Given the description of an element on the screen output the (x, y) to click on. 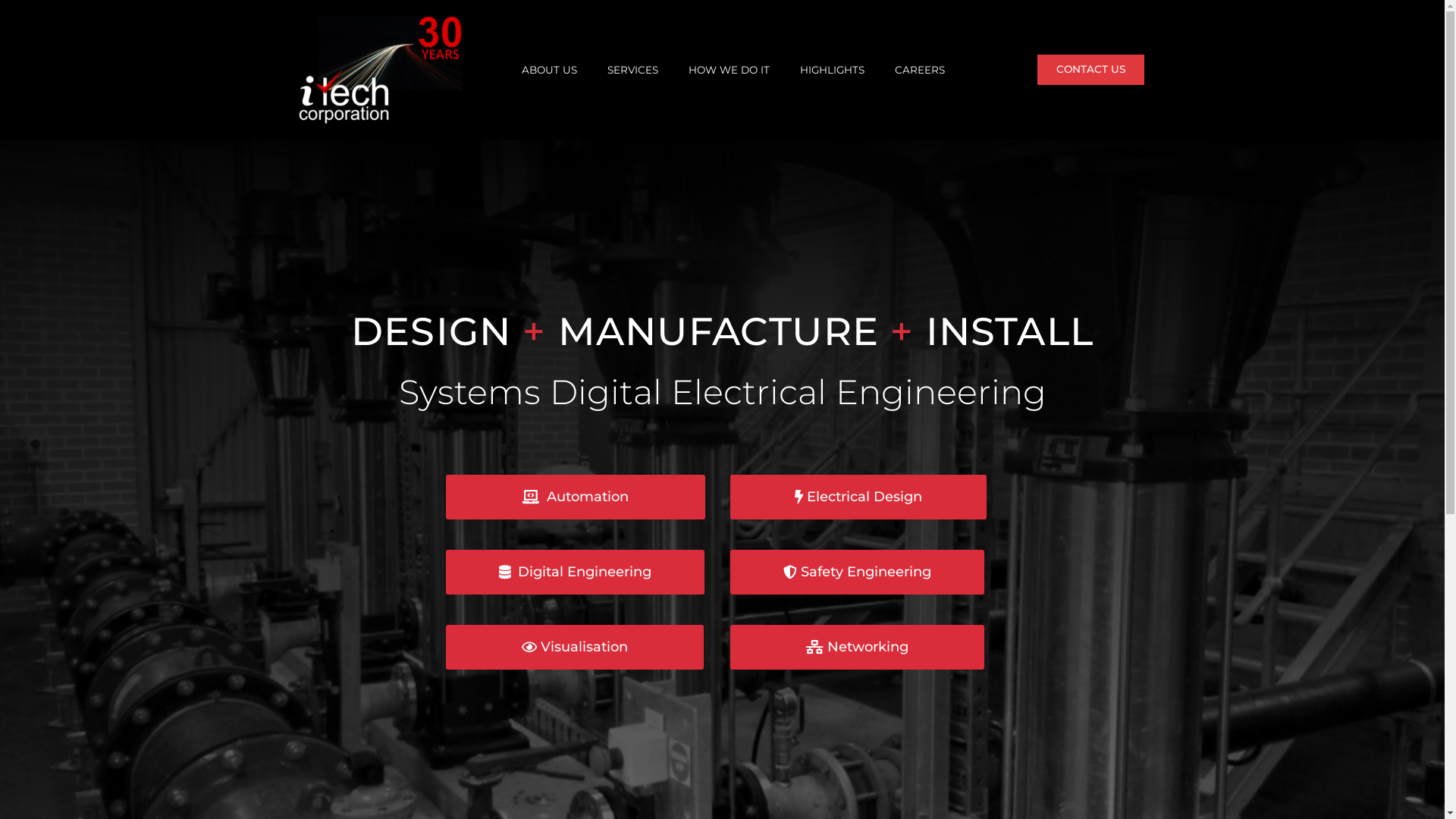
CAREERS Element type: text (919, 69)
Electrical Design Element type: text (857, 496)
SERVICES Element type: text (632, 69)
Visualisation Element type: text (574, 646)
HIGHLIGHTS Element type: text (831, 69)
Safety Engineering Element type: text (856, 571)
CONTACT US Element type: text (1090, 69)
Digital Engineering Element type: text (574, 571)
HOW WE DO IT Element type: text (728, 69)
ABOUT US Element type: text (549, 69)
Automation Element type: text (575, 496)
Networking Element type: text (856, 646)
